Given the description of an element on the screen output the (x, y) to click on. 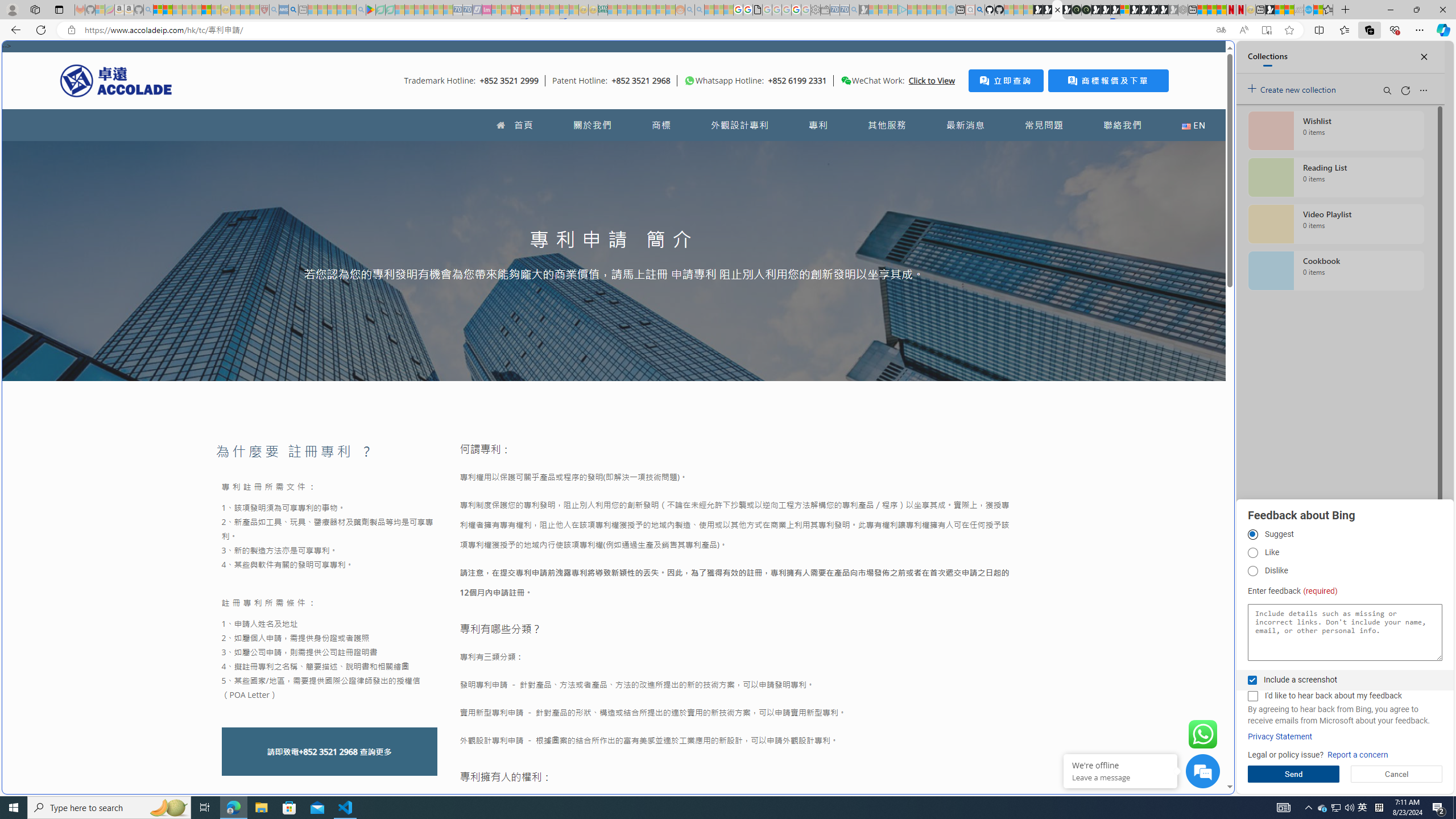
New tab - Sleeping (303, 9)
google_privacy_policy_zh-CN.pdf (1118, 683)
Expert Portfolios - Sleeping (640, 9)
Wallet - Sleeping (824, 9)
Play Cave FRVR in your browser | Games from Microsoft Start (1105, 9)
